Given the description of an element on the screen output the (x, y) to click on. 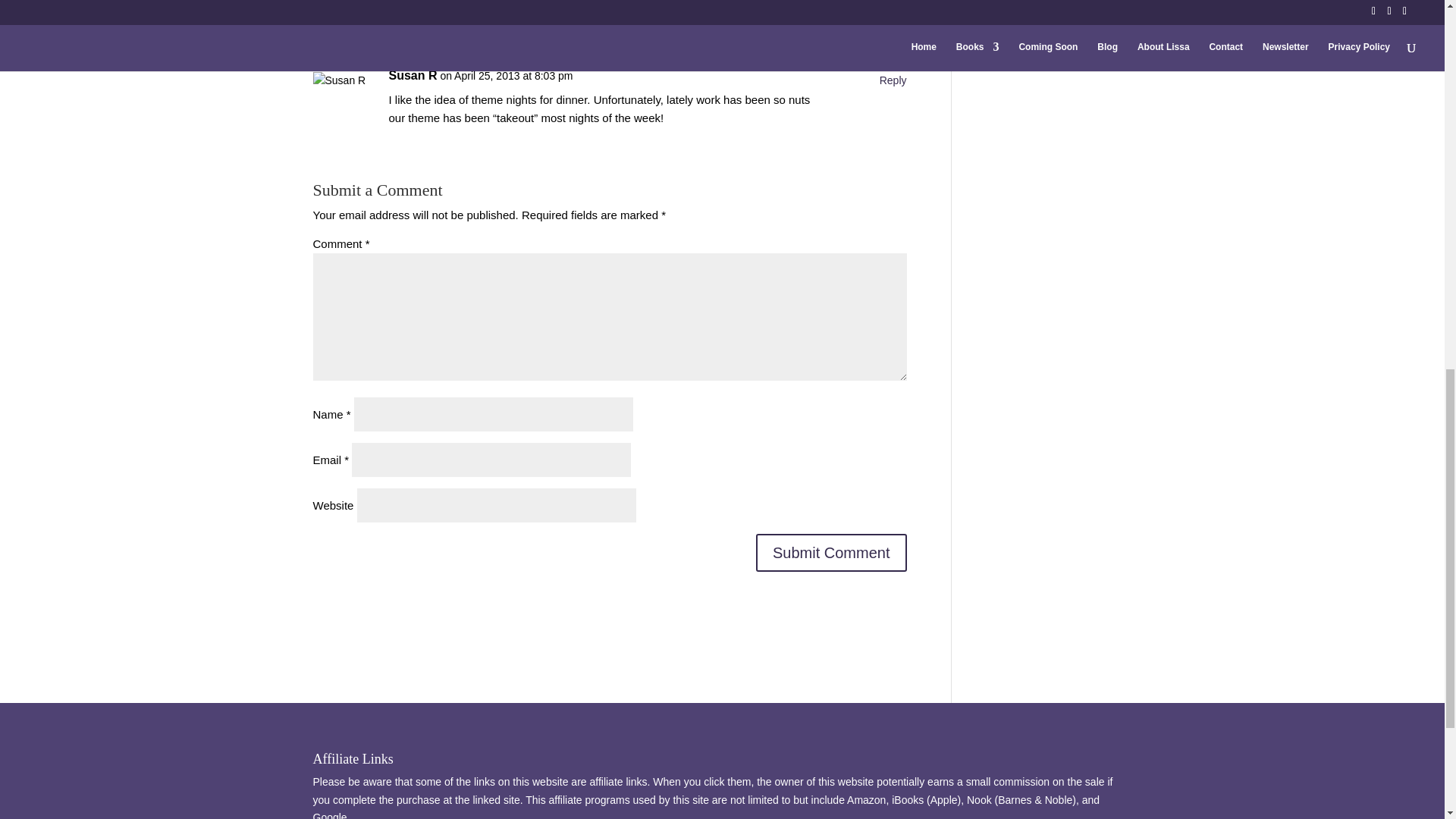
Submit Comment (831, 552)
Submit Comment (831, 552)
Reply (893, 81)
